Given the description of an element on the screen output the (x, y) to click on. 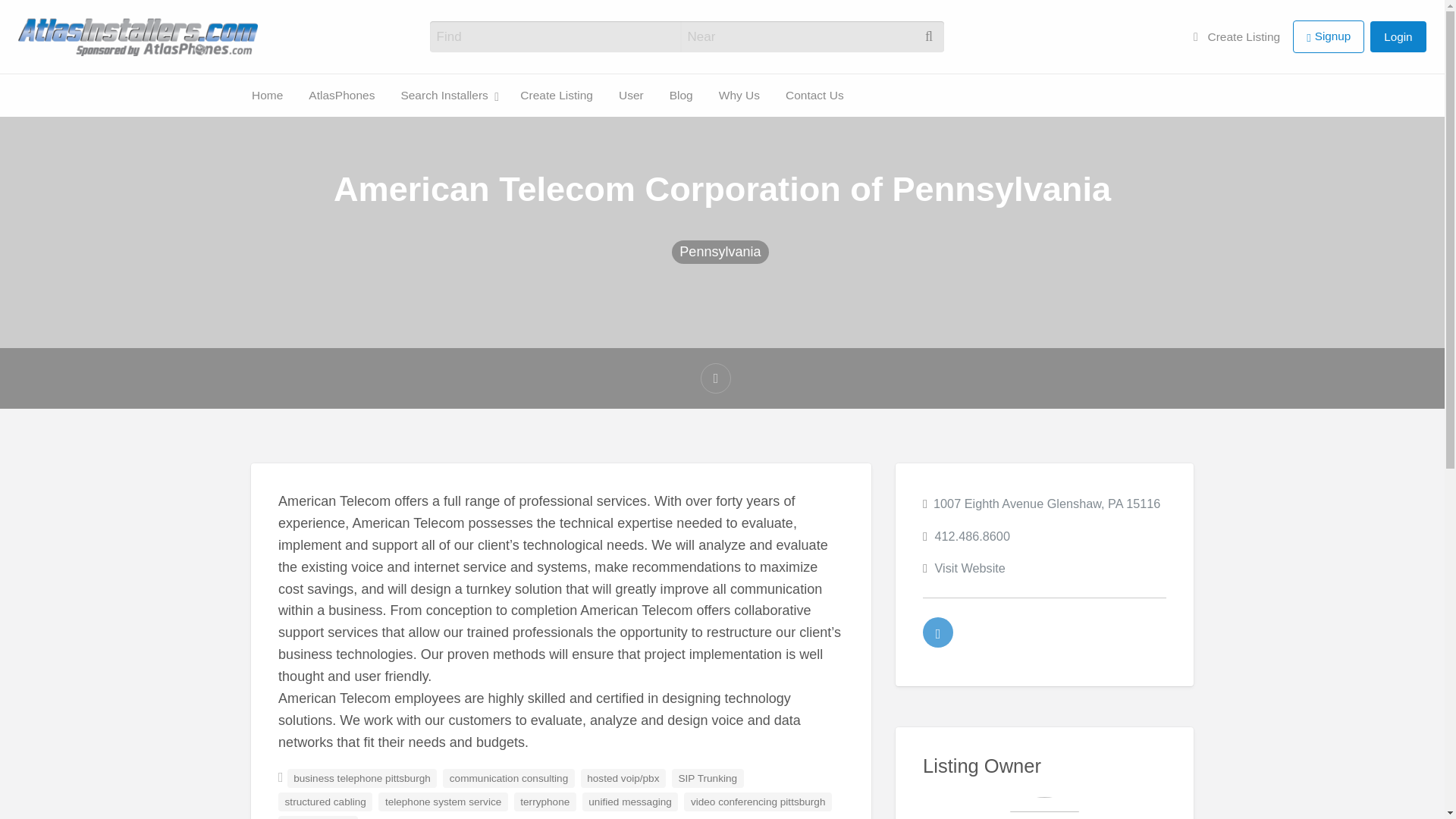
Search Installers (31, 116)
Twitter (938, 632)
Search (30, 16)
